Given the description of an element on the screen output the (x, y) to click on. 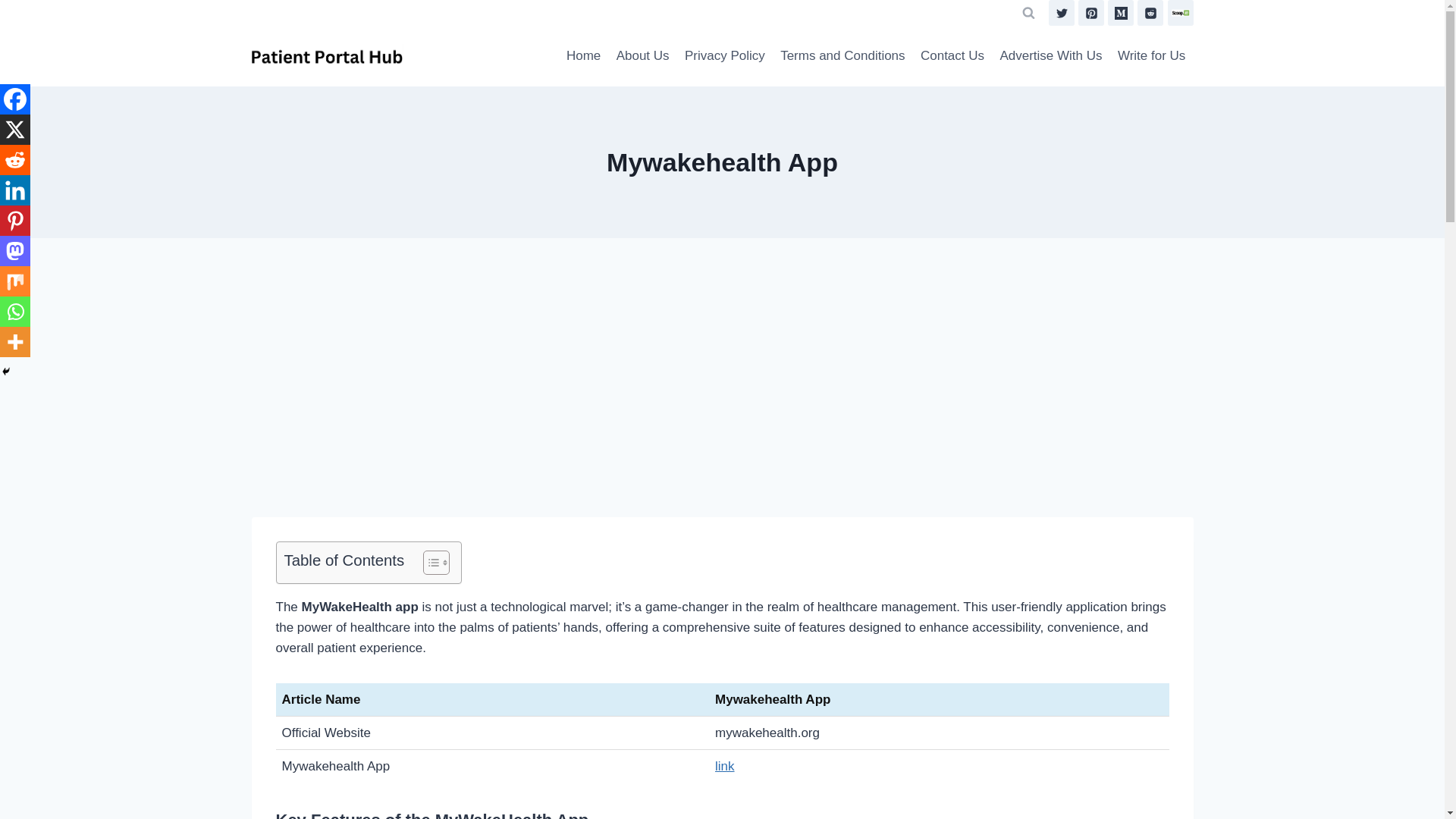
About Us (642, 55)
link (724, 766)
Terms and Conditions (842, 55)
Advertise With Us (1050, 55)
Home (583, 55)
Write for Us (1151, 55)
Privacy Policy (725, 55)
Contact Us (951, 55)
